Given the description of an element on the screen output the (x, y) to click on. 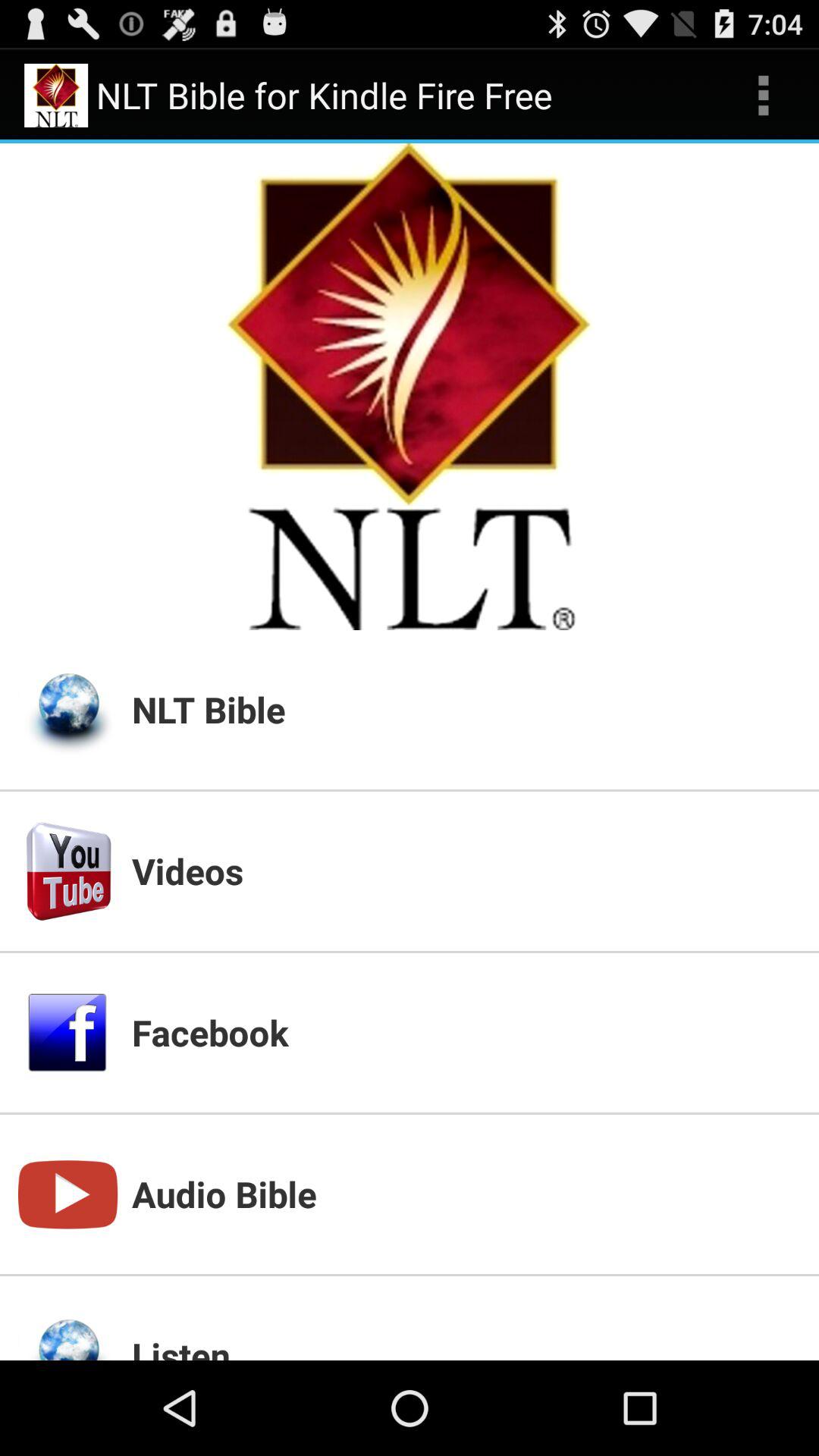
tap icon below the nlt bible (465, 870)
